Given the description of an element on the screen output the (x, y) to click on. 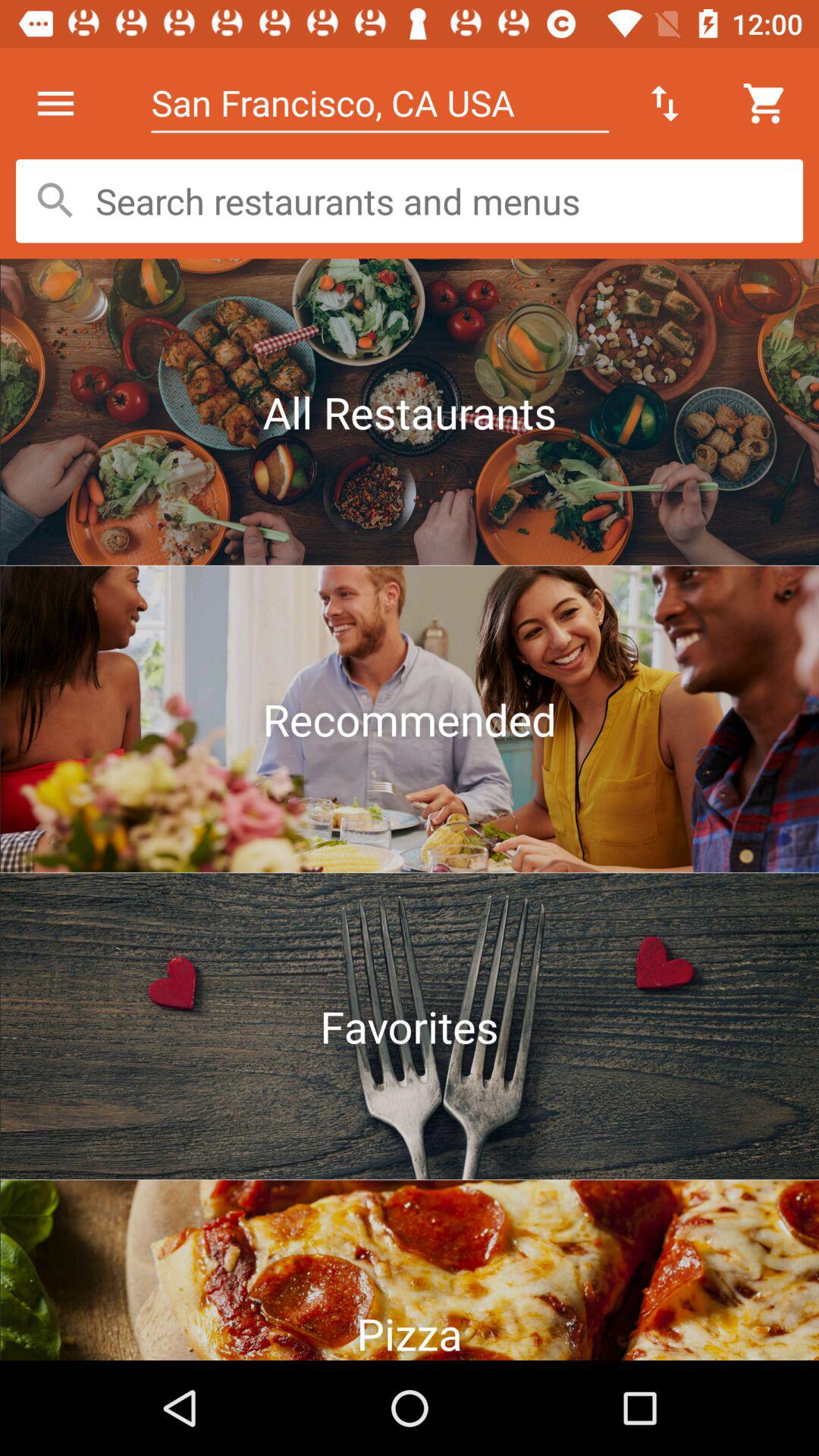
open icon to the left of san francisco ca icon (55, 103)
